Given the description of an element on the screen output the (x, y) to click on. 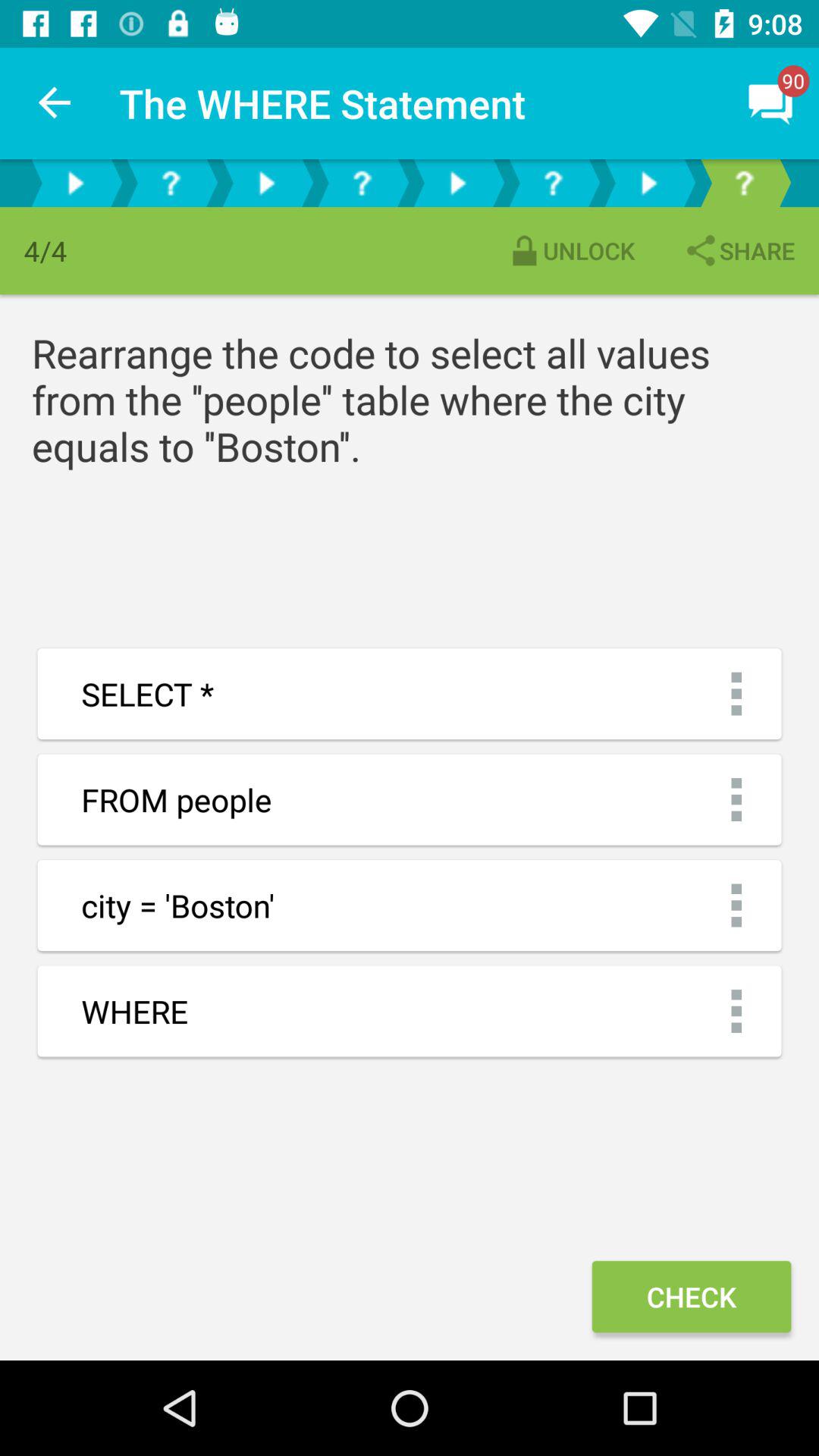
choose the share item (738, 250)
